Given the description of an element on the screen output the (x, y) to click on. 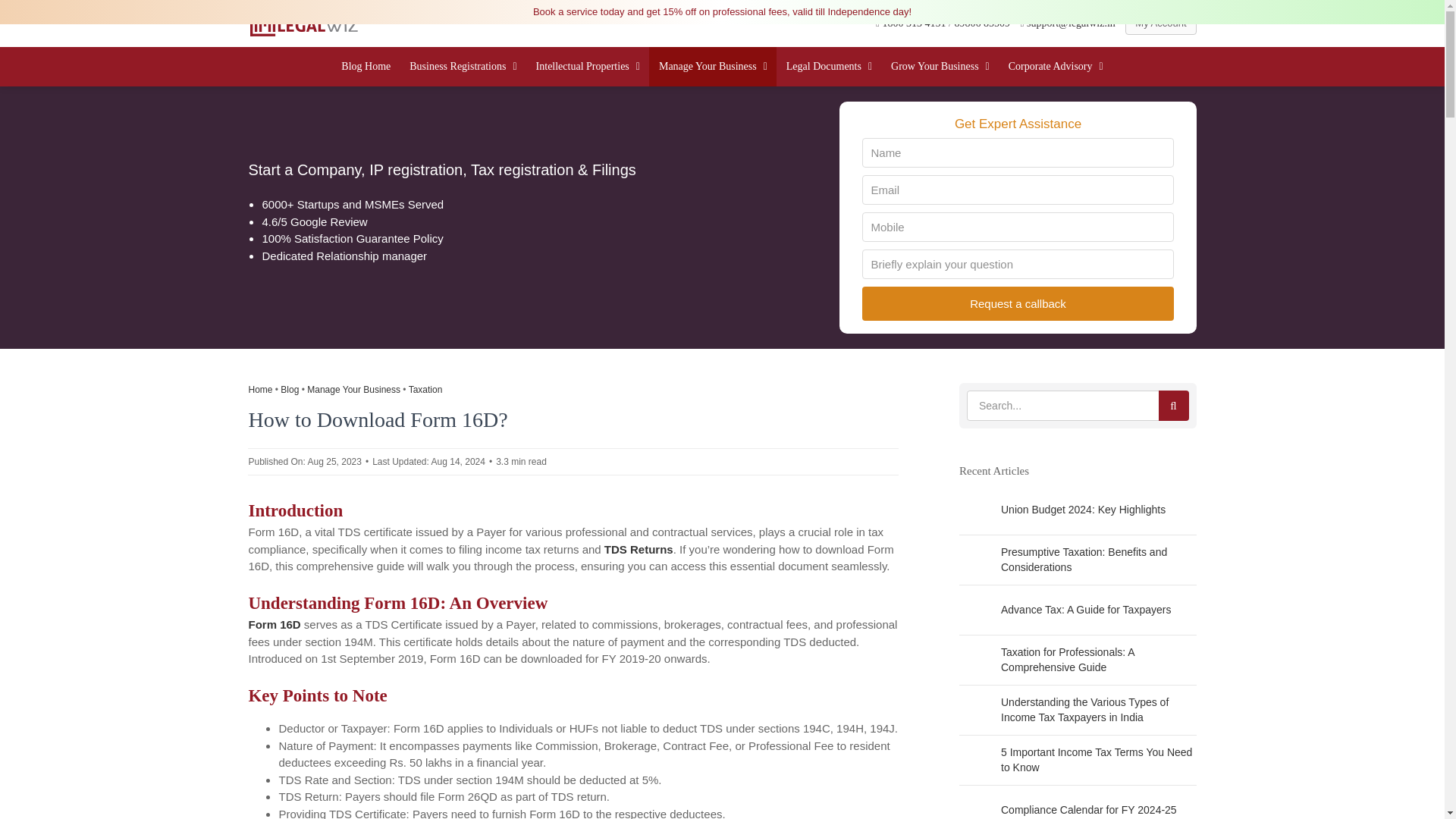
1800 313 4151 (914, 22)
Blog Home (365, 66)
Legal Documents (828, 66)
Business Registrations (462, 66)
Corporate Advisory (1055, 66)
My Account (1160, 23)
Manage Your Business (712, 66)
Grow Your Business (940, 66)
Intellectual Properties (587, 66)
Request a callback (1017, 303)
